Given the description of an element on the screen output the (x, y) to click on. 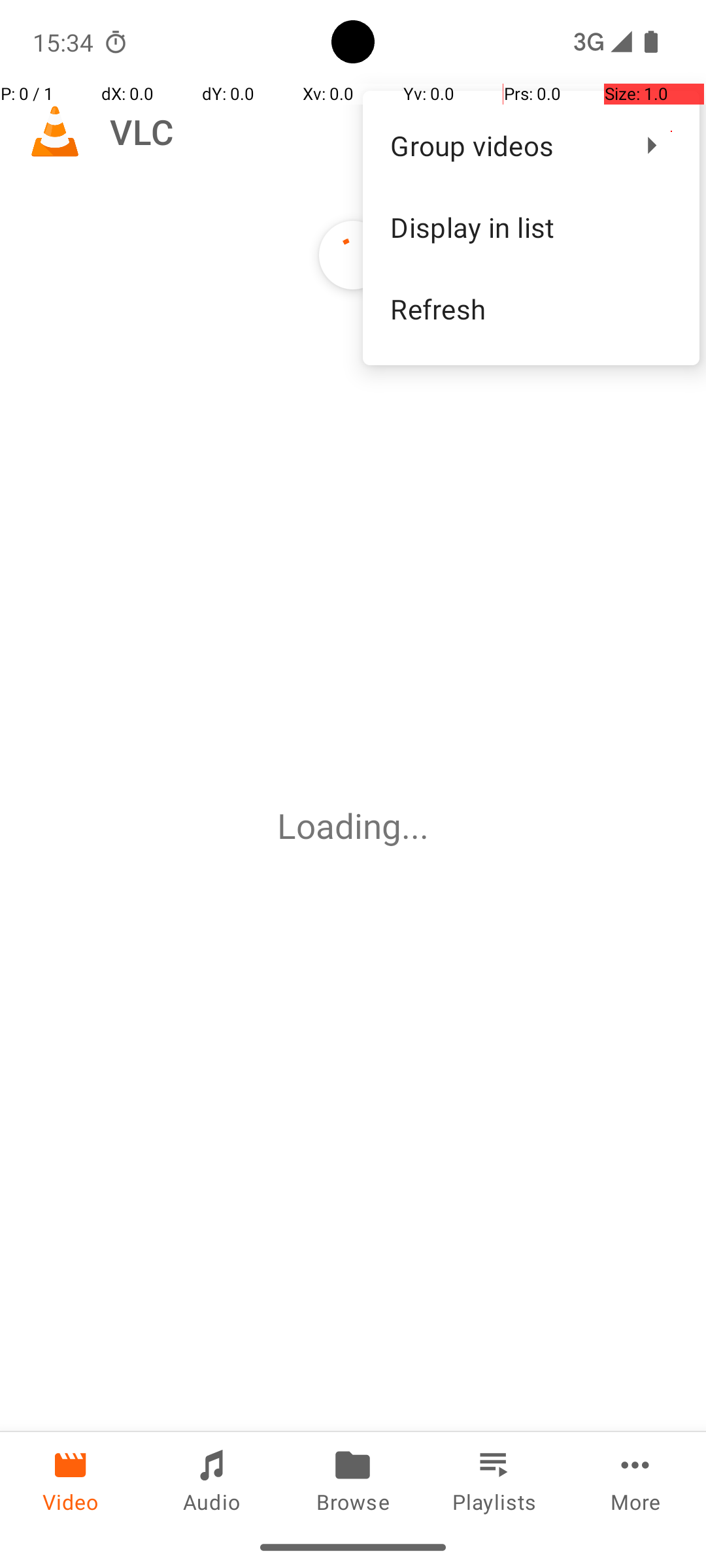
Group videos Element type: android.widget.TextView (503, 144)
